Given the description of an element on the screen output the (x, y) to click on. 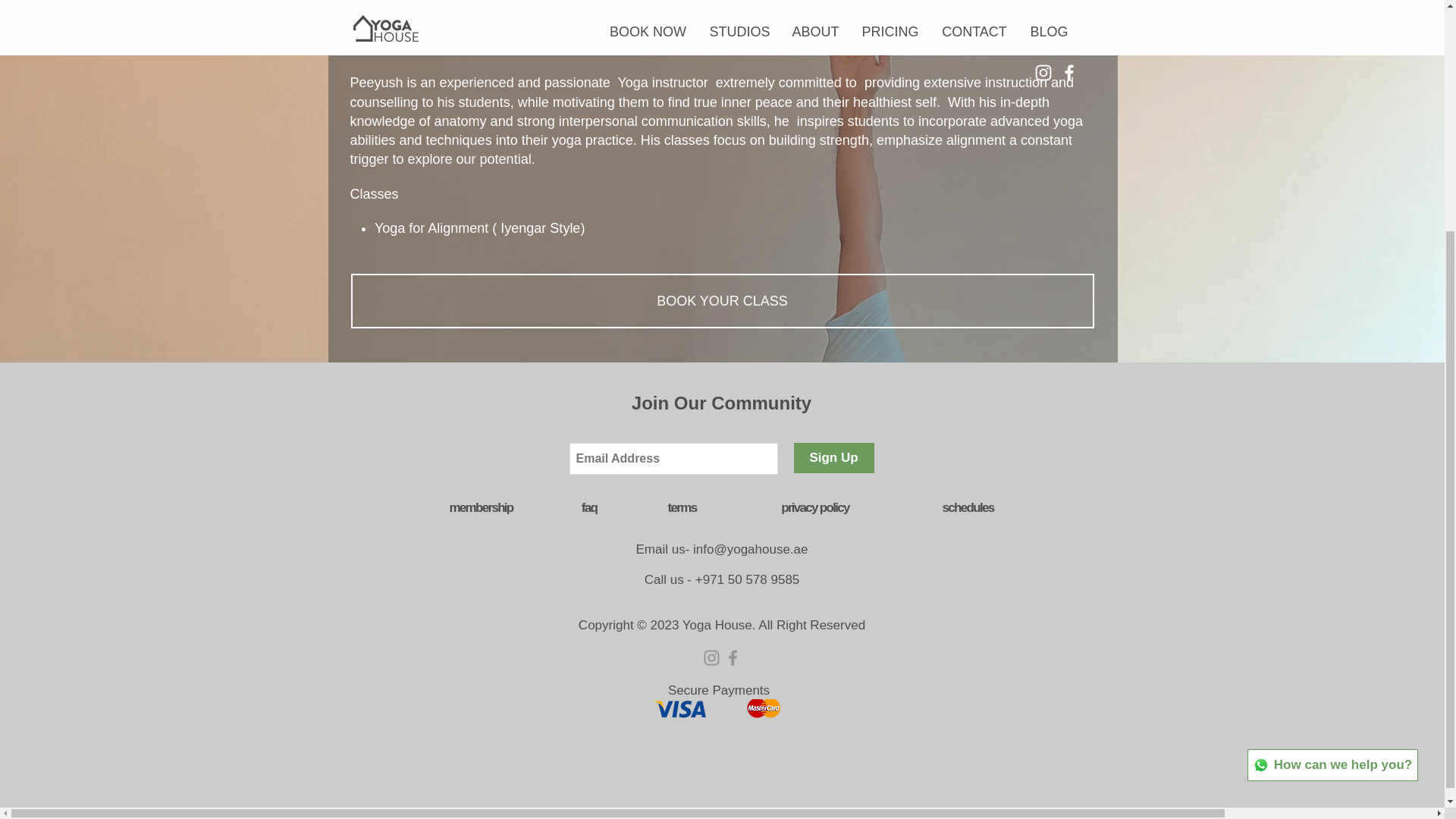
schedules (968, 507)
membership (480, 507)
How can we help you? (1332, 445)
privacy policy (814, 507)
terms (682, 507)
Sign Up (833, 458)
faq (588, 507)
BOOK YOUR CLASS (721, 300)
